Given the description of an element on the screen output the (x, y) to click on. 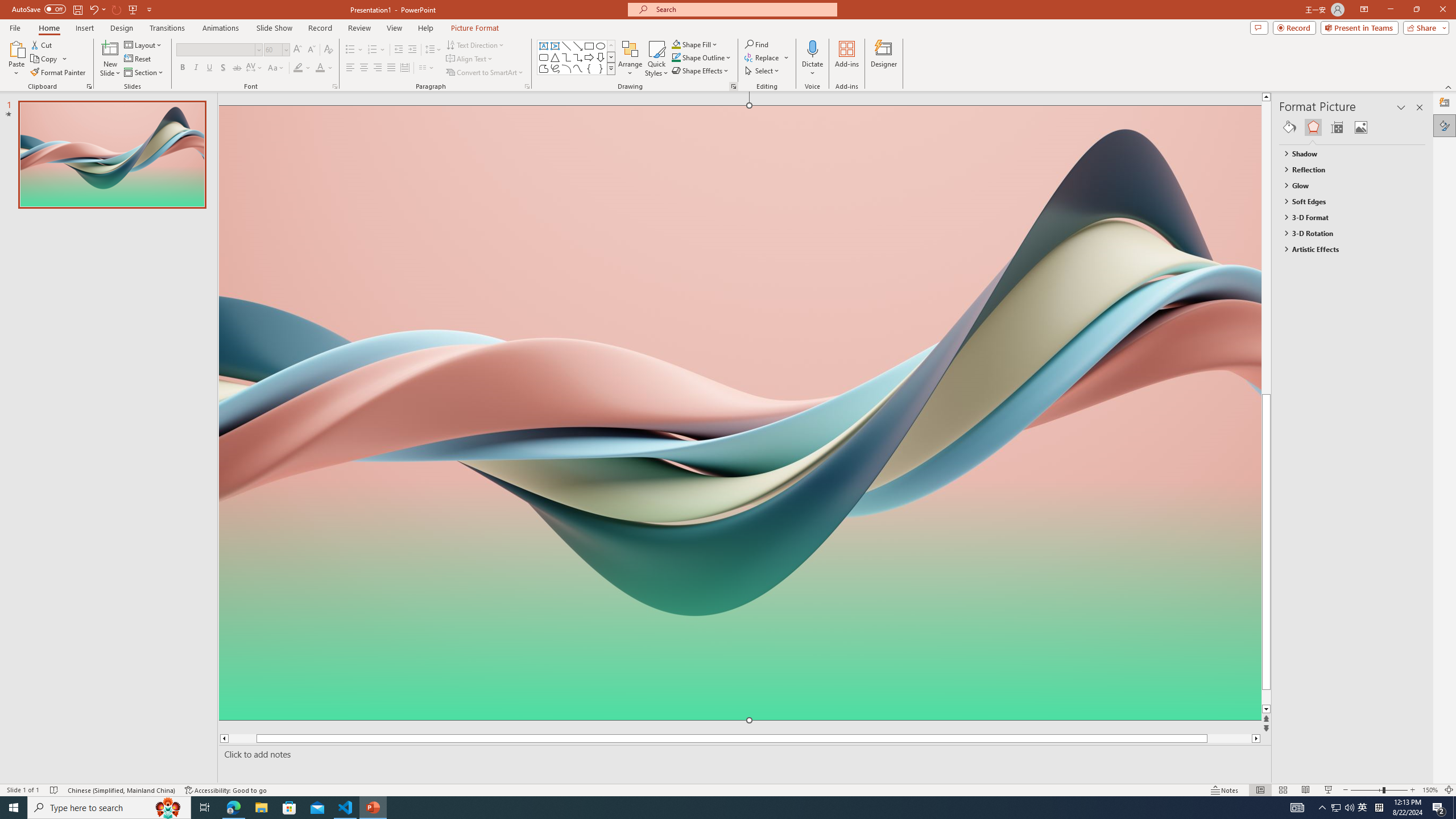
Decorative Locked (739, 579)
Reflection (1347, 169)
Format Picture (1444, 125)
